Given the description of an element on the screen output the (x, y) to click on. 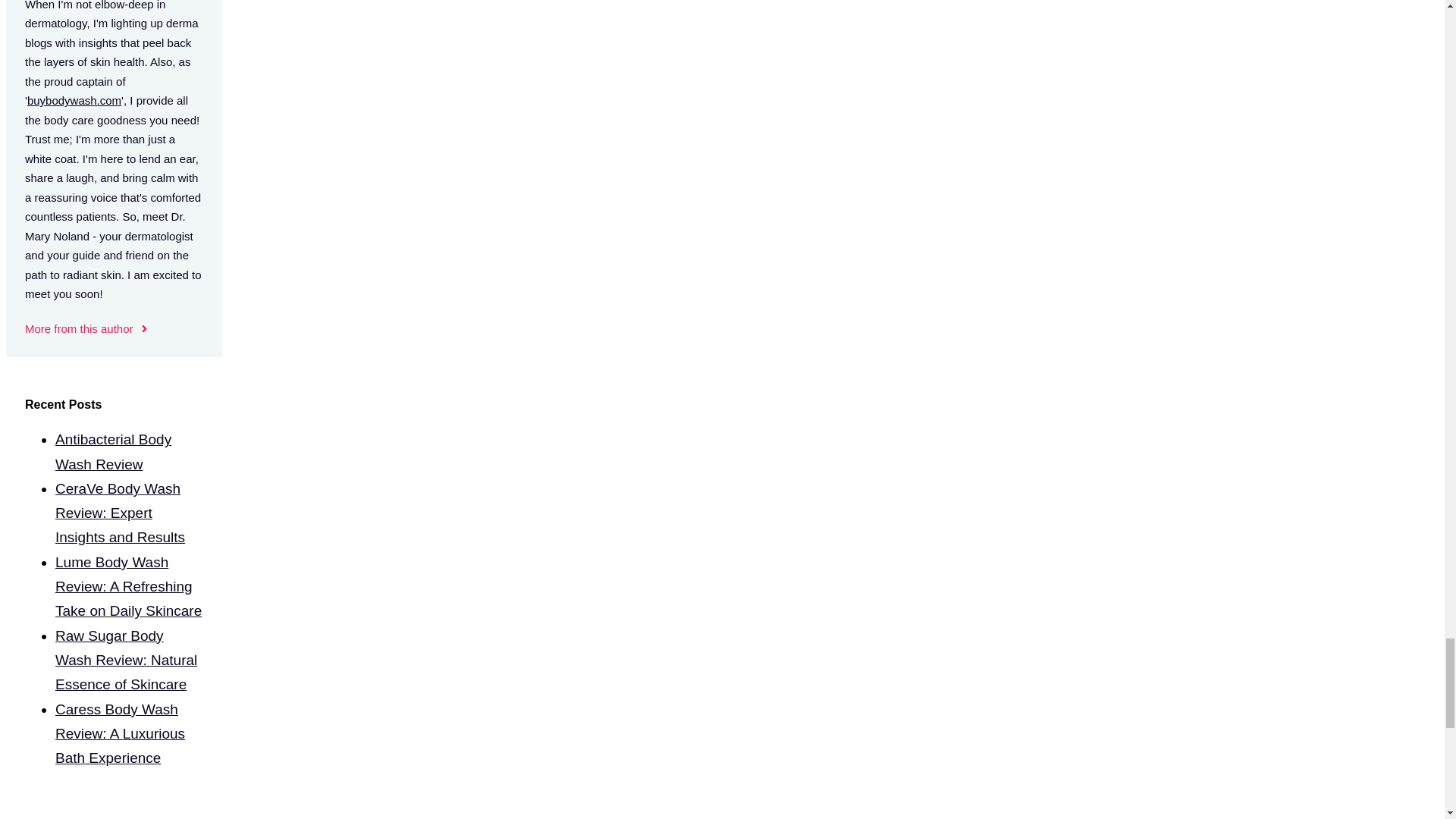
Antibacterial Body Wash Review (113, 451)
buybodywash.com (73, 100)
CeraVe Body Wash Review: Expert Insights and Results (119, 513)
Lume Body Wash Review: A Refreshing Take on Daily Skincare (128, 586)
Raw Sugar Body Wash Review: Natural Essence of Skincare (125, 660)
More from this author (86, 329)
Caress Body Wash Review: A Luxurious Bath Experience (119, 733)
